Given the description of an element on the screen output the (x, y) to click on. 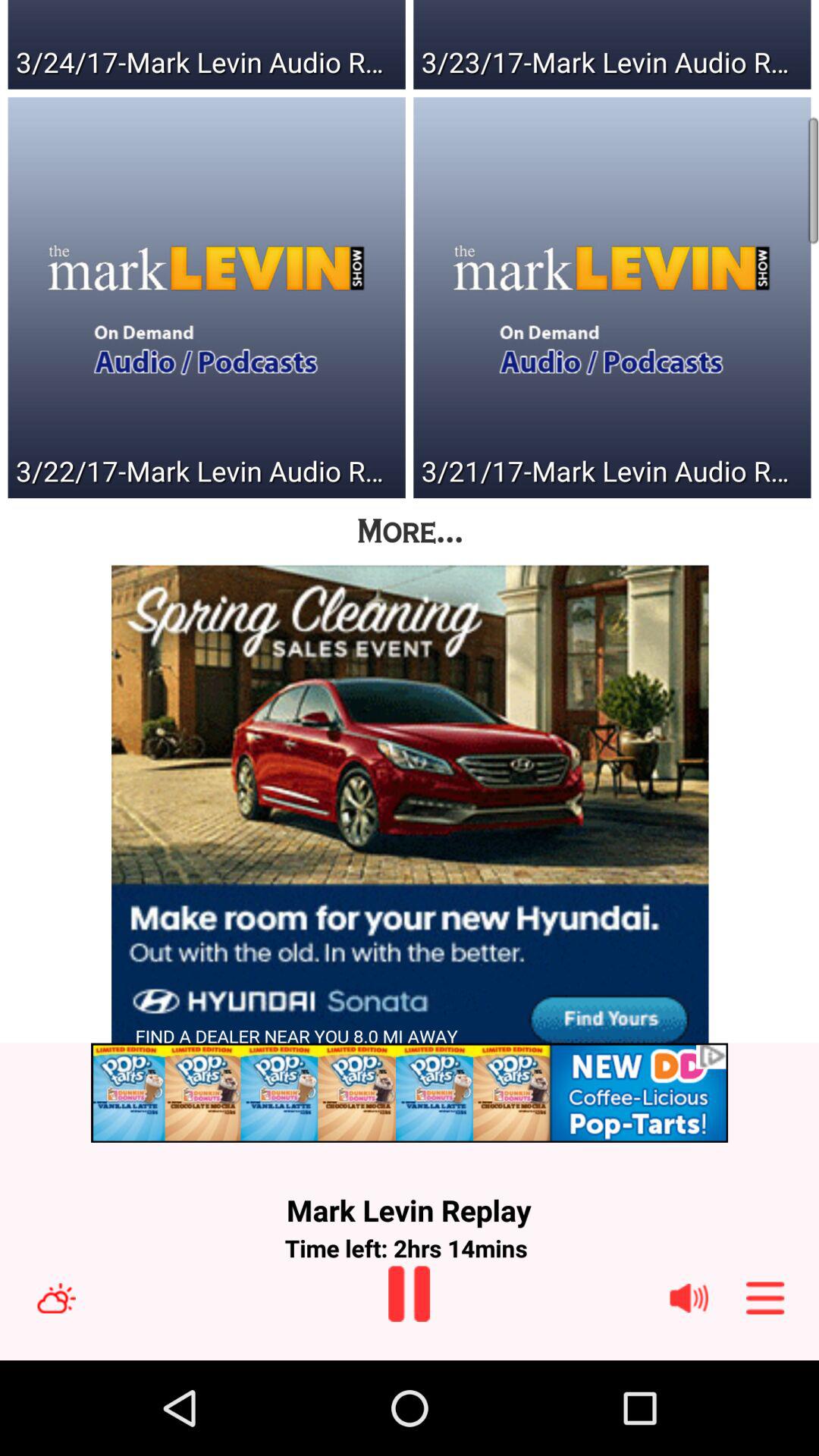
open weather channel (56, 1298)
